Given the description of an element on the screen output the (x, y) to click on. 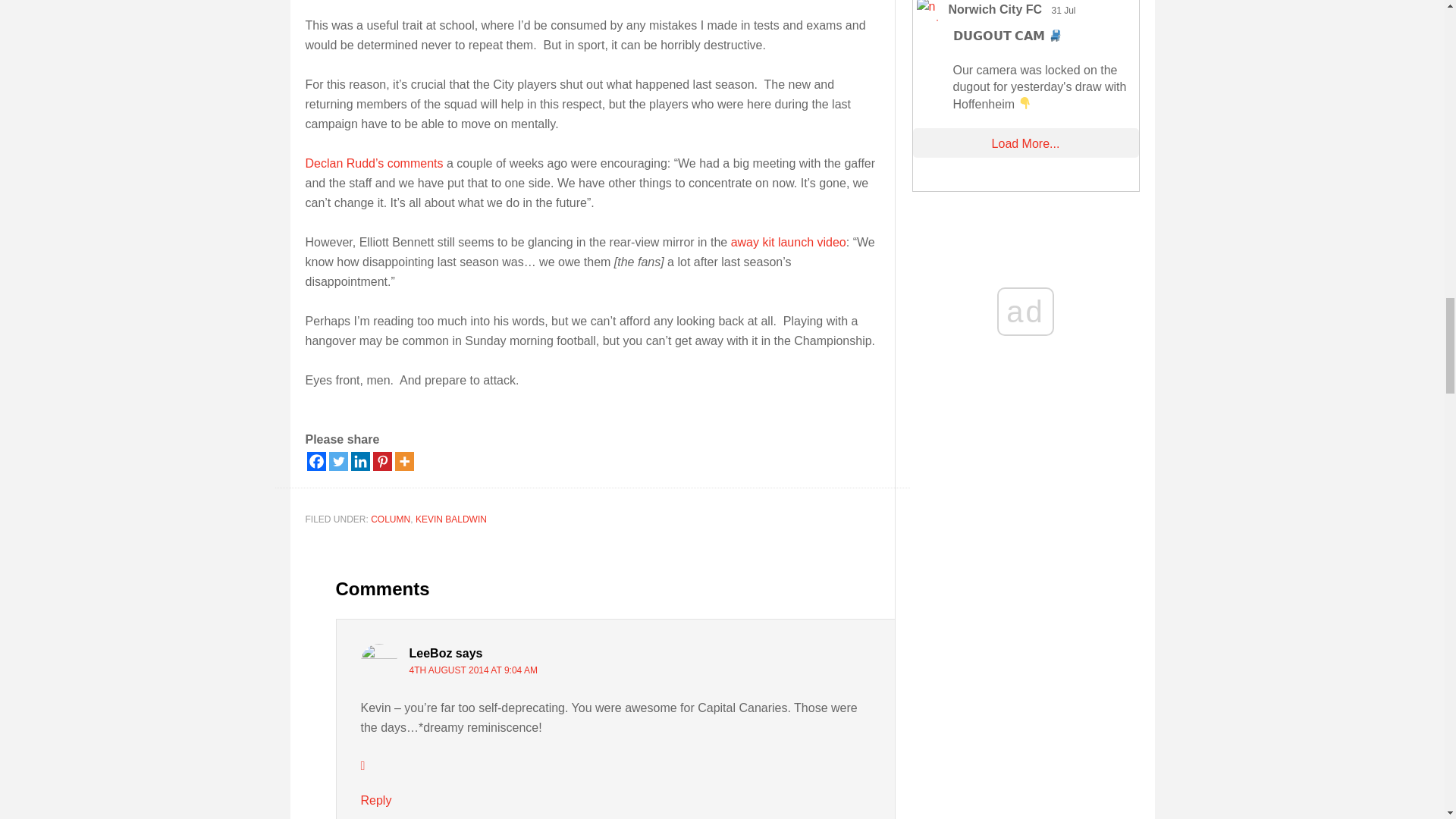
away kit launch video (787, 241)
Linkedin (359, 461)
More (403, 461)
4TH AUGUST 2014 AT 9:04 AM (473, 670)
Reply (376, 799)
Pinterest (381, 461)
COLUMN (390, 519)
Facebook (314, 461)
KEVIN BALDWIN (450, 519)
Twitter (338, 461)
